Given the description of an element on the screen output the (x, y) to click on. 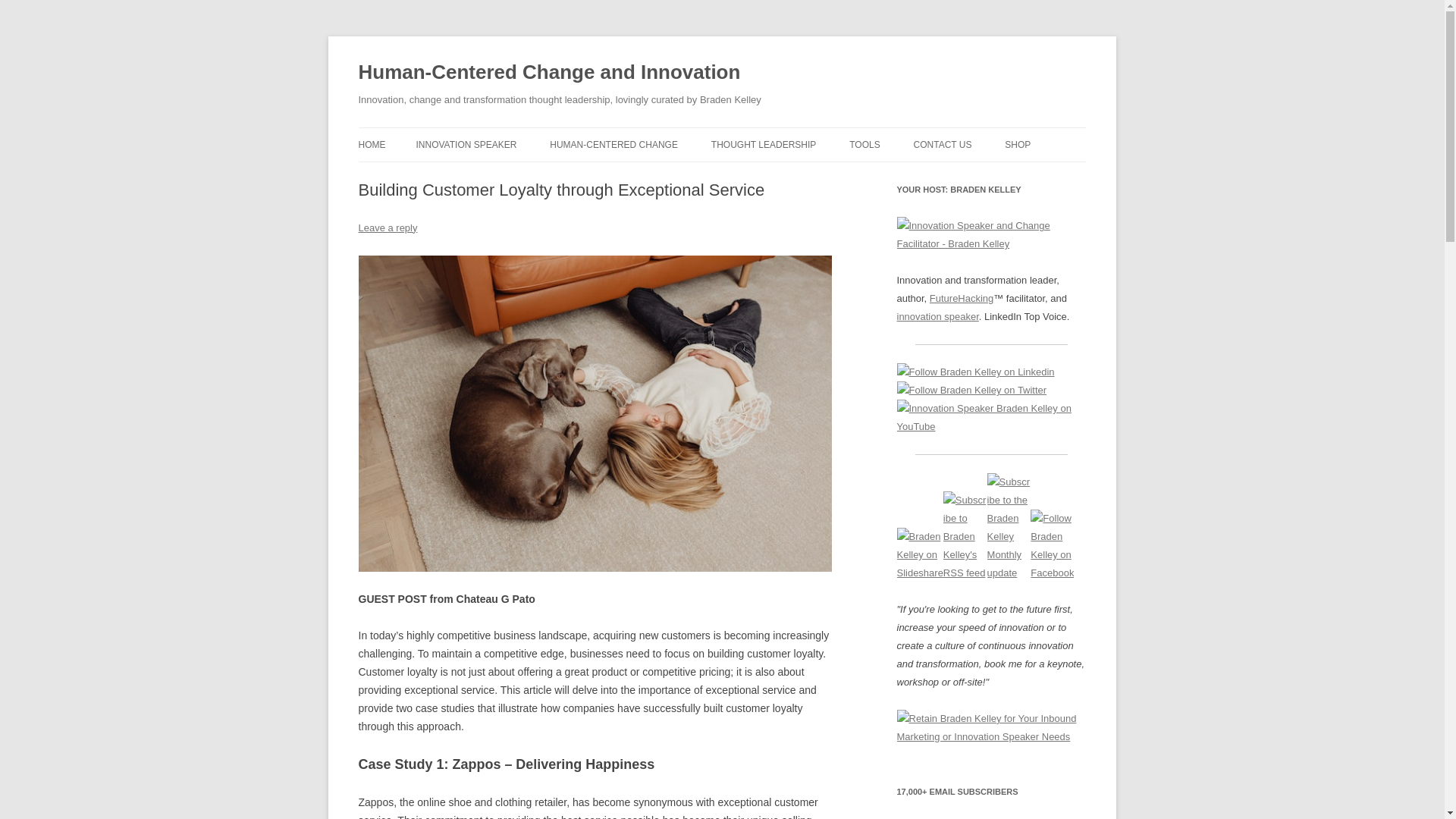
INNOVATION SPEAKER (465, 144)
TOOLS (863, 144)
HUMAN-CENTERED CHANGE (614, 144)
THOUGHT LEADERSHIP (763, 144)
CART (1080, 176)
NEWSLETTER SIGNUP (989, 176)
Human-Centered Change and Innovation (548, 72)
CONTACT US (943, 144)
